Given the description of an element on the screen output the (x, y) to click on. 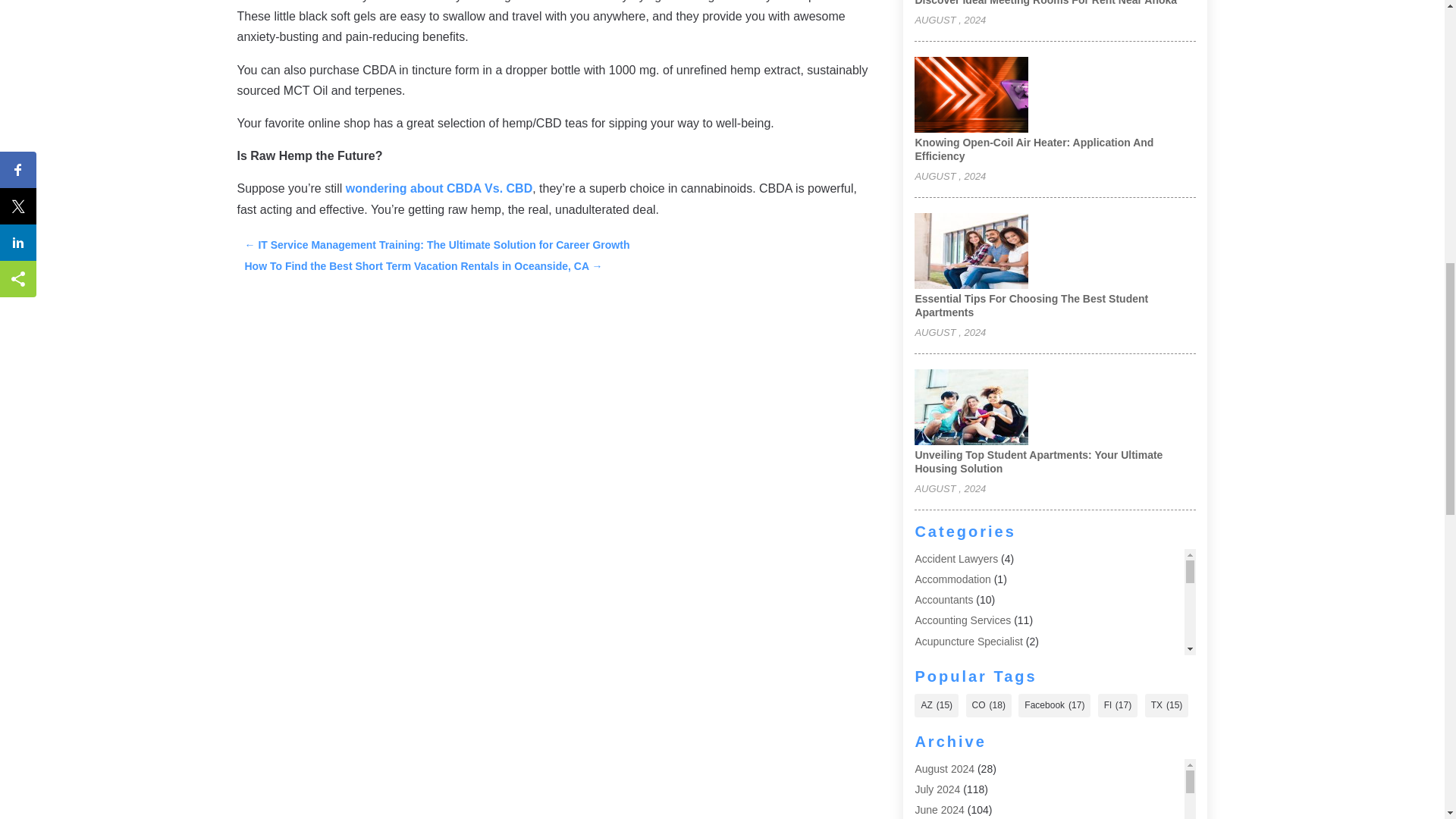
Discover Ideal Meeting Rooms For Rent Near Anoka (1045, 2)
Accountants (943, 599)
Acupuncture Specialist (968, 641)
Agricultural (941, 765)
Accounting Services (962, 620)
Accident Lawyers (955, 558)
wondering about CBDA Vs. CBD (439, 187)
Advertising Agency (959, 743)
Adoption (935, 702)
